Given the description of an element on the screen output the (x, y) to click on. 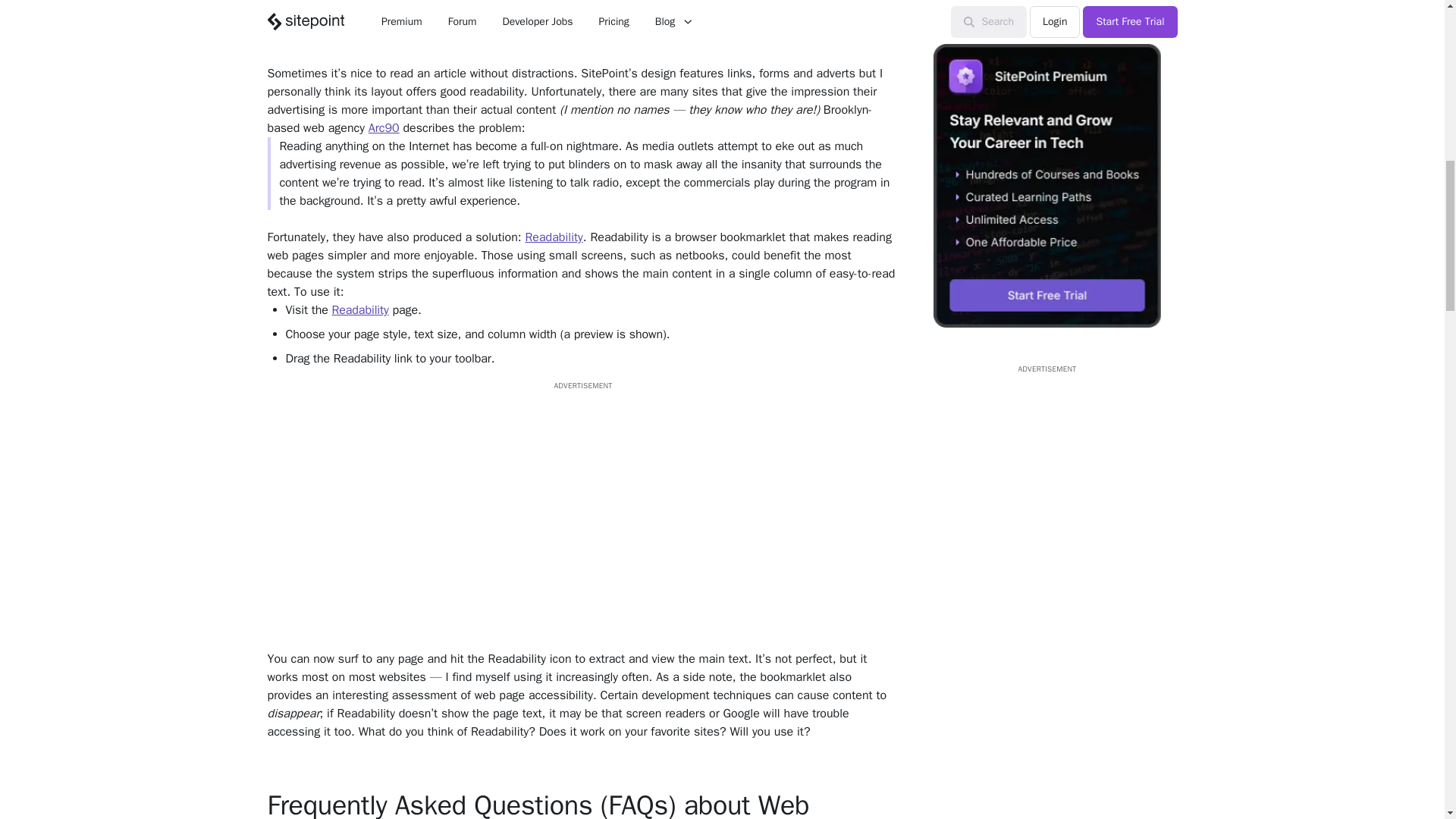
Arc90 (383, 127)
Readability (553, 237)
Readability (359, 309)
